Given the description of an element on the screen output the (x, y) to click on. 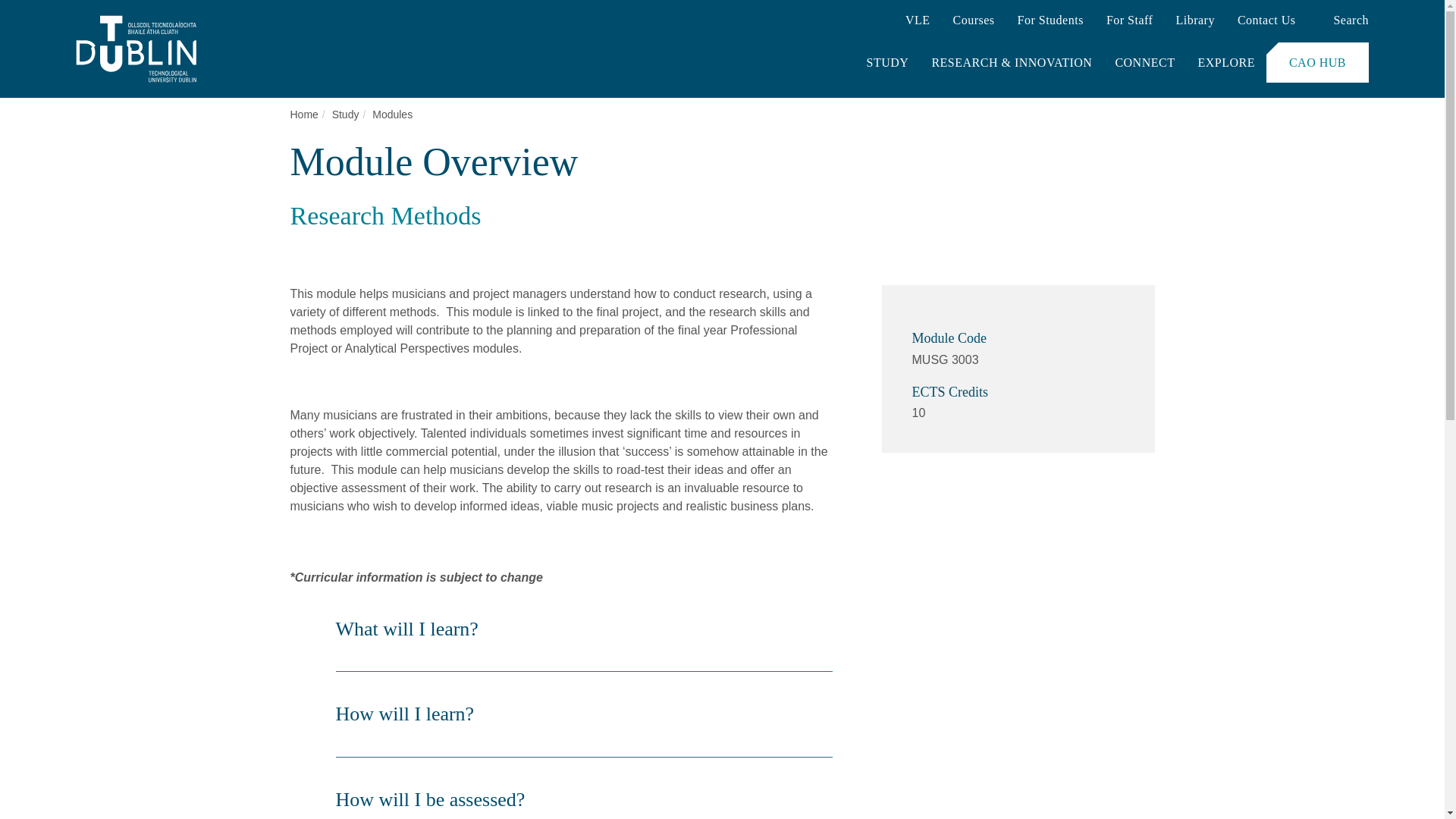
Library (1194, 21)
Courses (973, 21)
STUDY (888, 62)
For Students (1050, 21)
VLE (917, 21)
For Staff (1129, 21)
Contact Us (1266, 21)
Search (1342, 21)
CAO HUB (1317, 62)
